Given the description of an element on the screen output the (x, y) to click on. 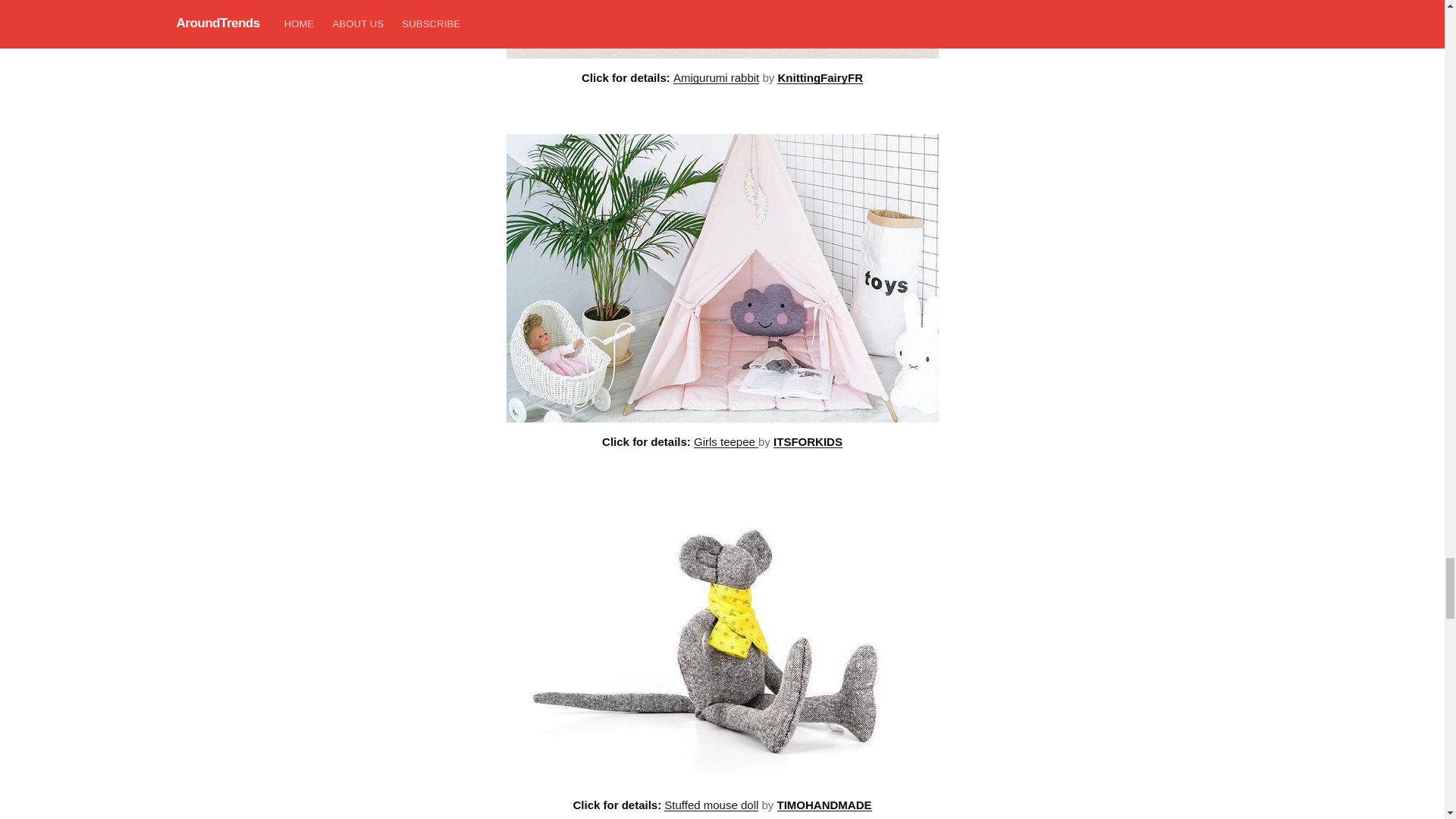
Stuffed mouse doll (710, 804)
KnittingFairyFR (820, 77)
Girls teepee (726, 440)
Amigurumi rabbit (715, 77)
ITSFORKIDS (808, 440)
